Given the description of an element on the screen output the (x, y) to click on. 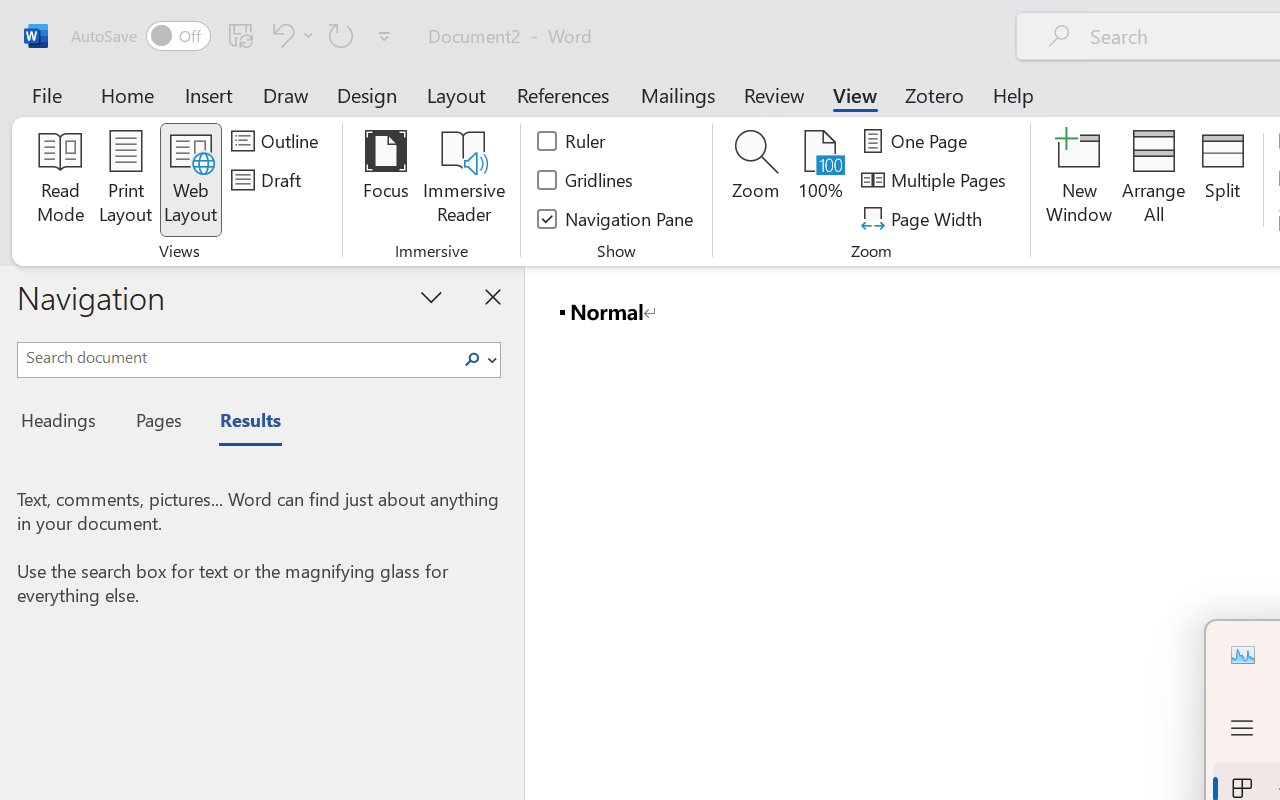
100% (820, 179)
Repeat Doc Close (341, 35)
Search (471, 359)
Draft (269, 179)
Search document (236, 357)
Ruler (572, 141)
Customize Quick Access Toolbar (384, 35)
AutoSave (140, 35)
Page Width (924, 218)
Draw (285, 94)
Insert (209, 94)
Focus (385, 179)
